Given the description of an element on the screen output the (x, y) to click on. 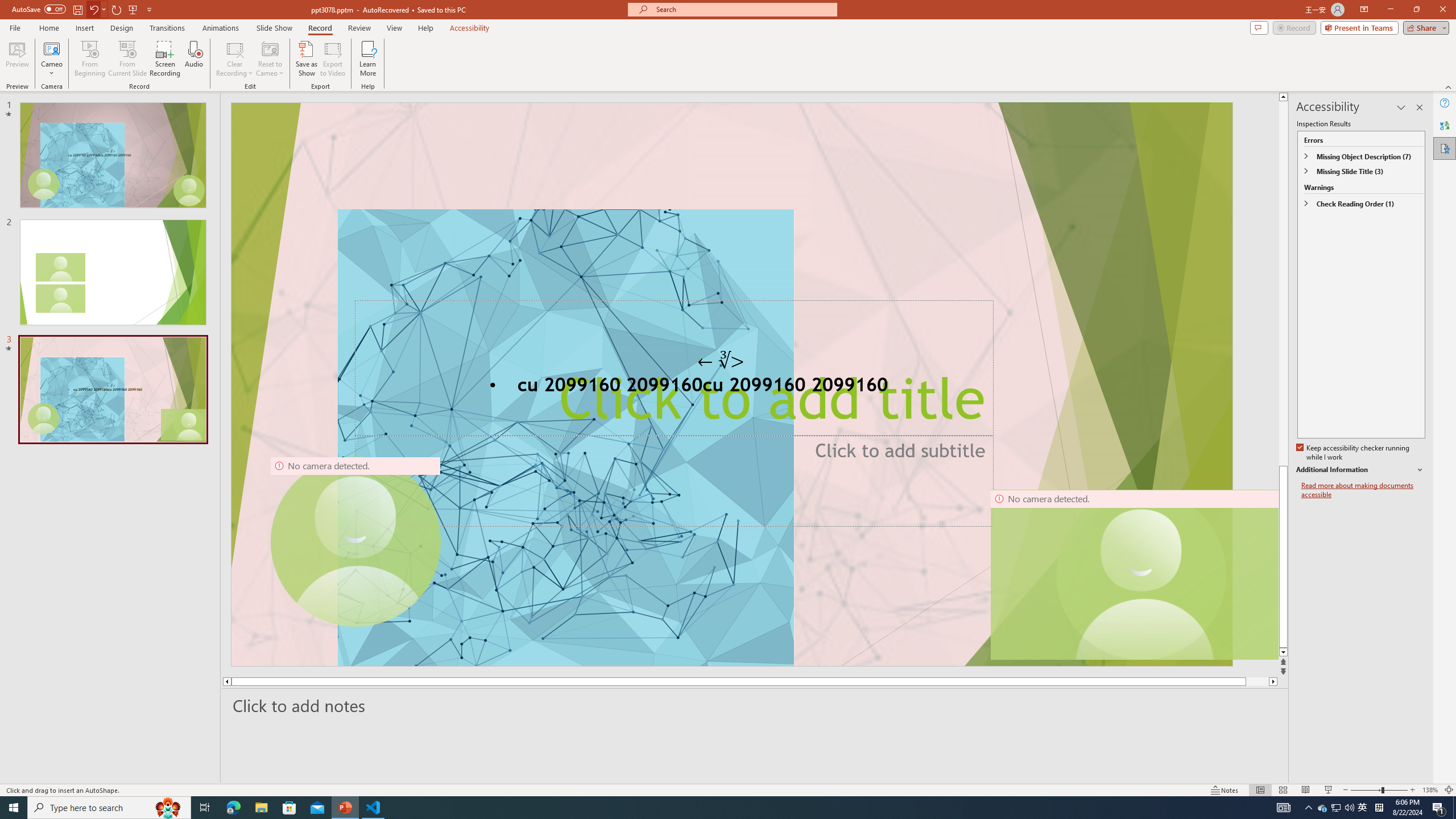
Screen Recording (165, 58)
